Given the description of an element on the screen output the (x, y) to click on. 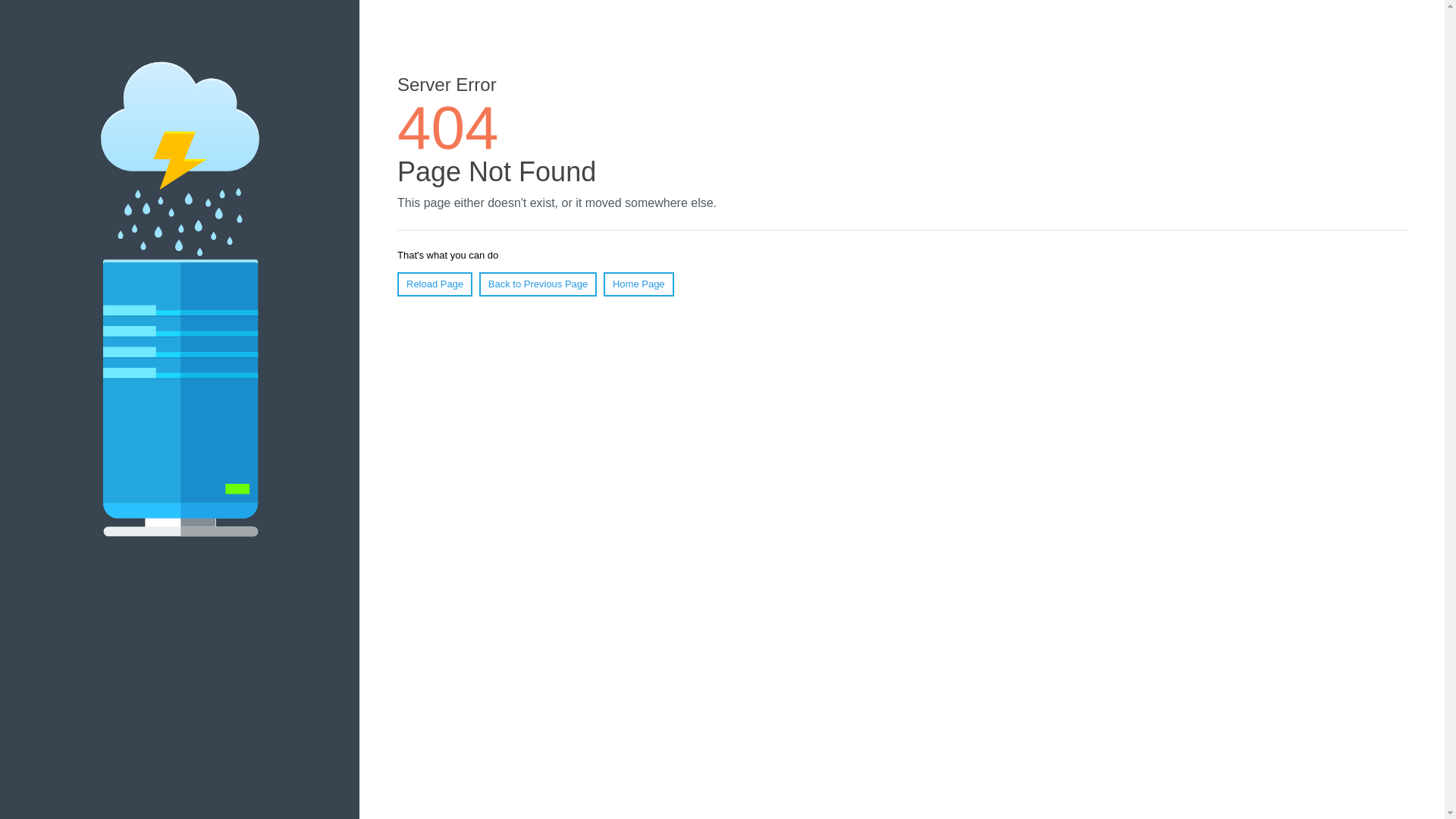
Back to Previous Page Element type: text (538, 284)
Home Page Element type: text (638, 284)
Reload Page Element type: text (434, 284)
